Given the description of an element on the screen output the (x, y) to click on. 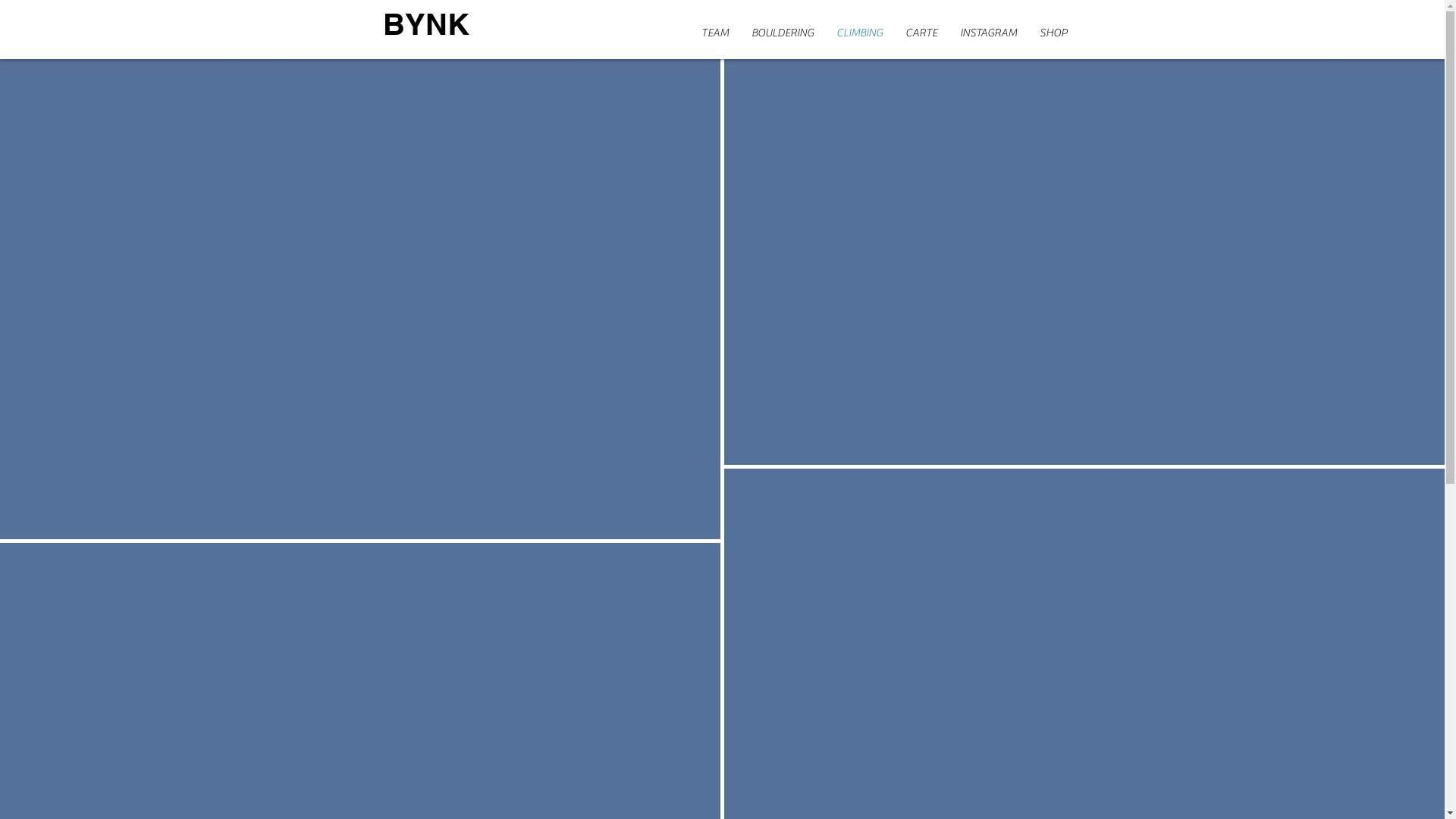
SHOP Element type: text (1053, 31)
TEAM Element type: text (715, 31)
CARTE Element type: text (921, 31)
INSTAGRAM Element type: text (988, 31)
CLIMBING Element type: text (859, 31)
BOULDERING Element type: text (782, 31)
BYNK Element type: text (425, 23)
